Given the description of an element on the screen output the (x, y) to click on. 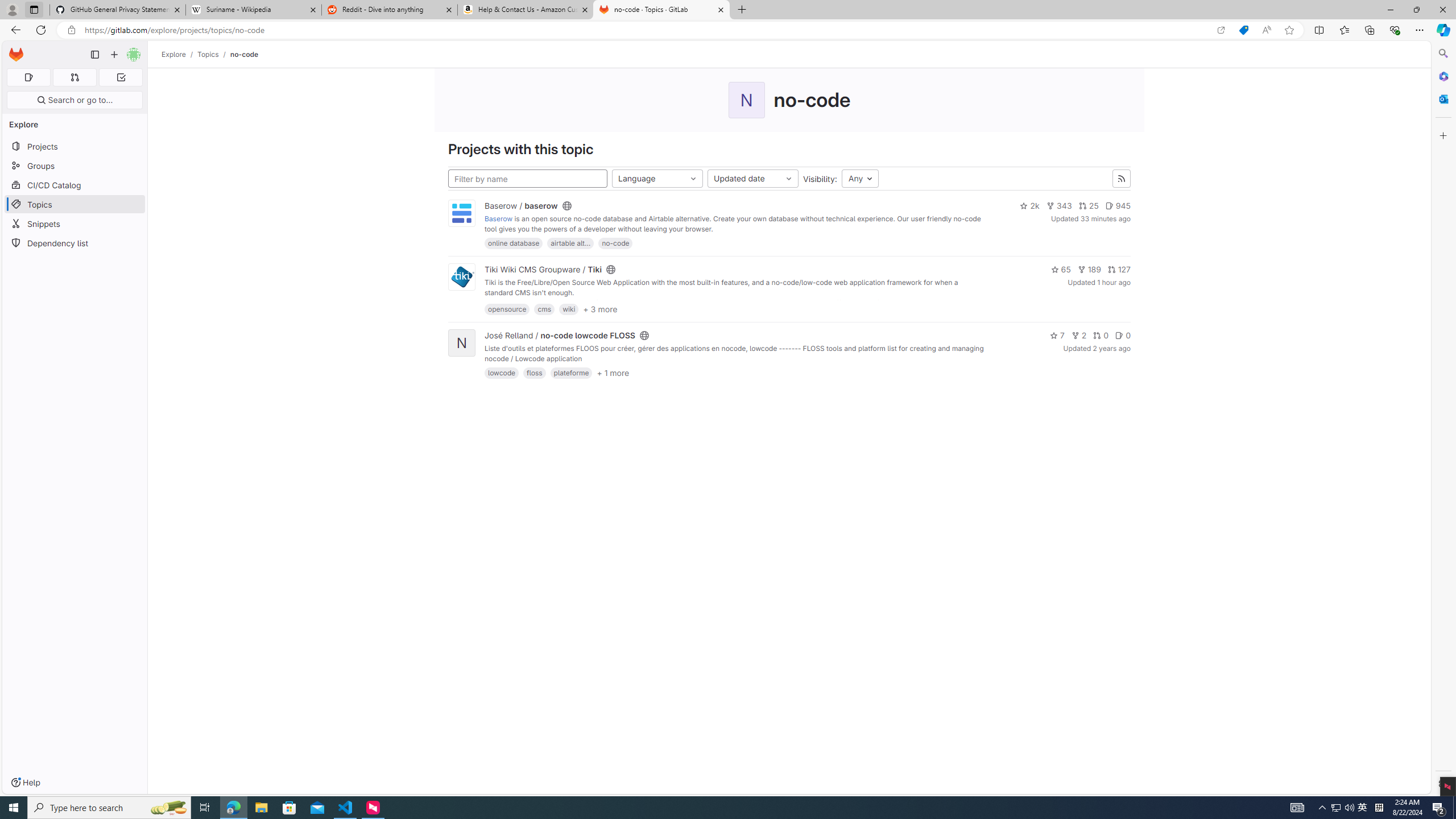
cms (544, 308)
CI/CD Catalog (74, 185)
Tiki Wiki CMS Groupware / Tiki (543, 269)
+ 3 more (600, 308)
Groups (74, 165)
65 (1060, 269)
Topics (74, 203)
floss (534, 372)
